Given the description of an element on the screen output the (x, y) to click on. 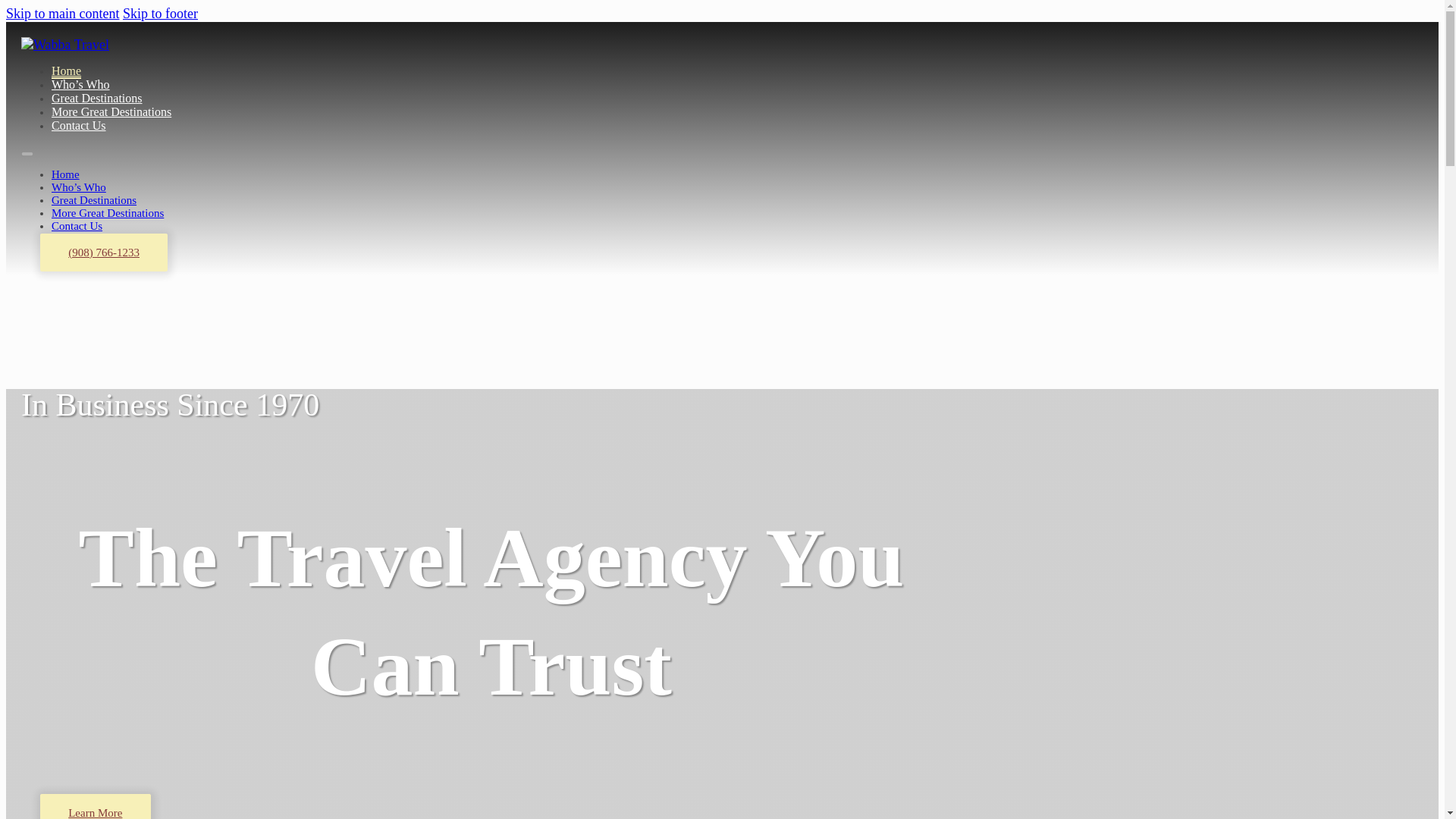
Home (65, 174)
Home (65, 71)
Great Destinations (93, 200)
More Great Destinations (110, 112)
Learn More (95, 806)
More Great Destinations (106, 213)
Skip to footer (160, 13)
Contact Us (75, 225)
Contact Us (78, 125)
Skip to main content (62, 13)
Great Destinations (96, 98)
